Given the description of an element on the screen output the (x, y) to click on. 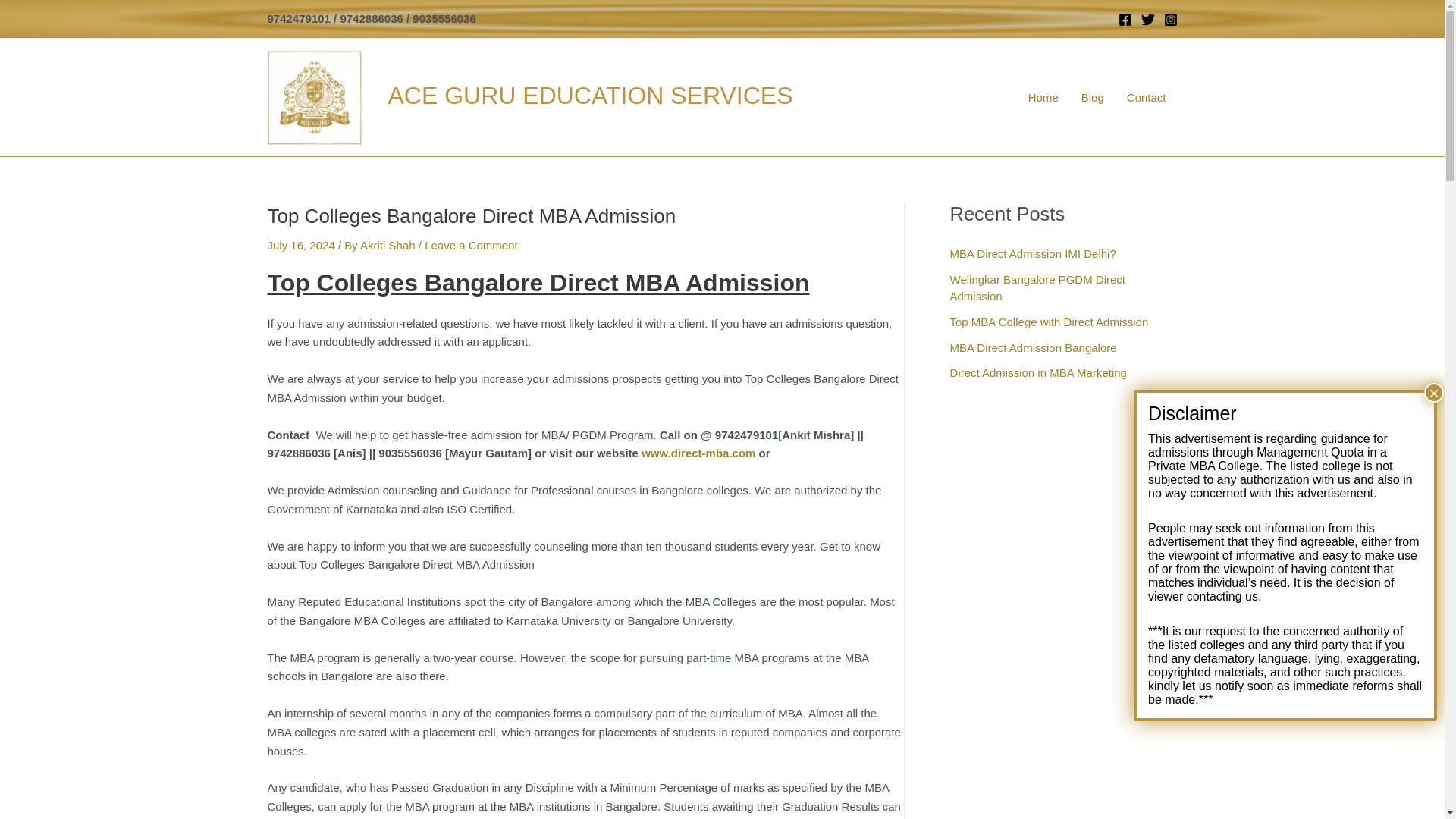
Home (1043, 97)
View all posts by Akriti Shah (389, 245)
Contact (1146, 97)
